Given the description of an element on the screen output the (x, y) to click on. 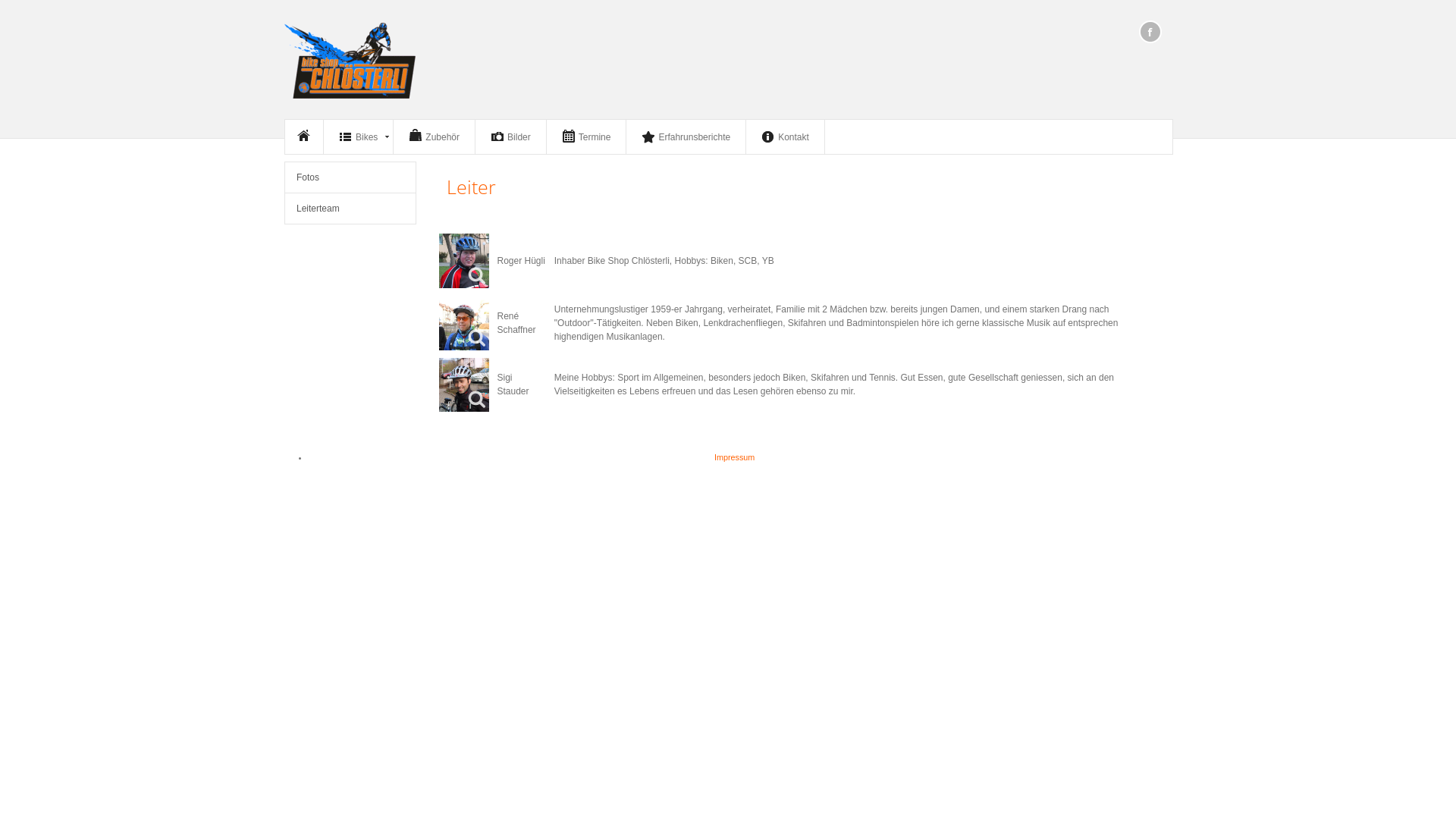
Termine Element type: text (586, 136)
Impressum Element type: text (734, 457)
Bikes Element type: text (357, 136)
Leiterteam Element type: text (350, 208)
Start hier... Element type: hover (304, 136)
Kontakt Element type: text (785, 136)
Leiter Element type: text (470, 186)
Bilder Element type: text (510, 136)
Facebook Element type: text (1150, 32)
Fotos Element type: text (350, 177)
Erfahrunsberichte Element type: text (685, 136)
